Given the description of an element on the screen output the (x, y) to click on. 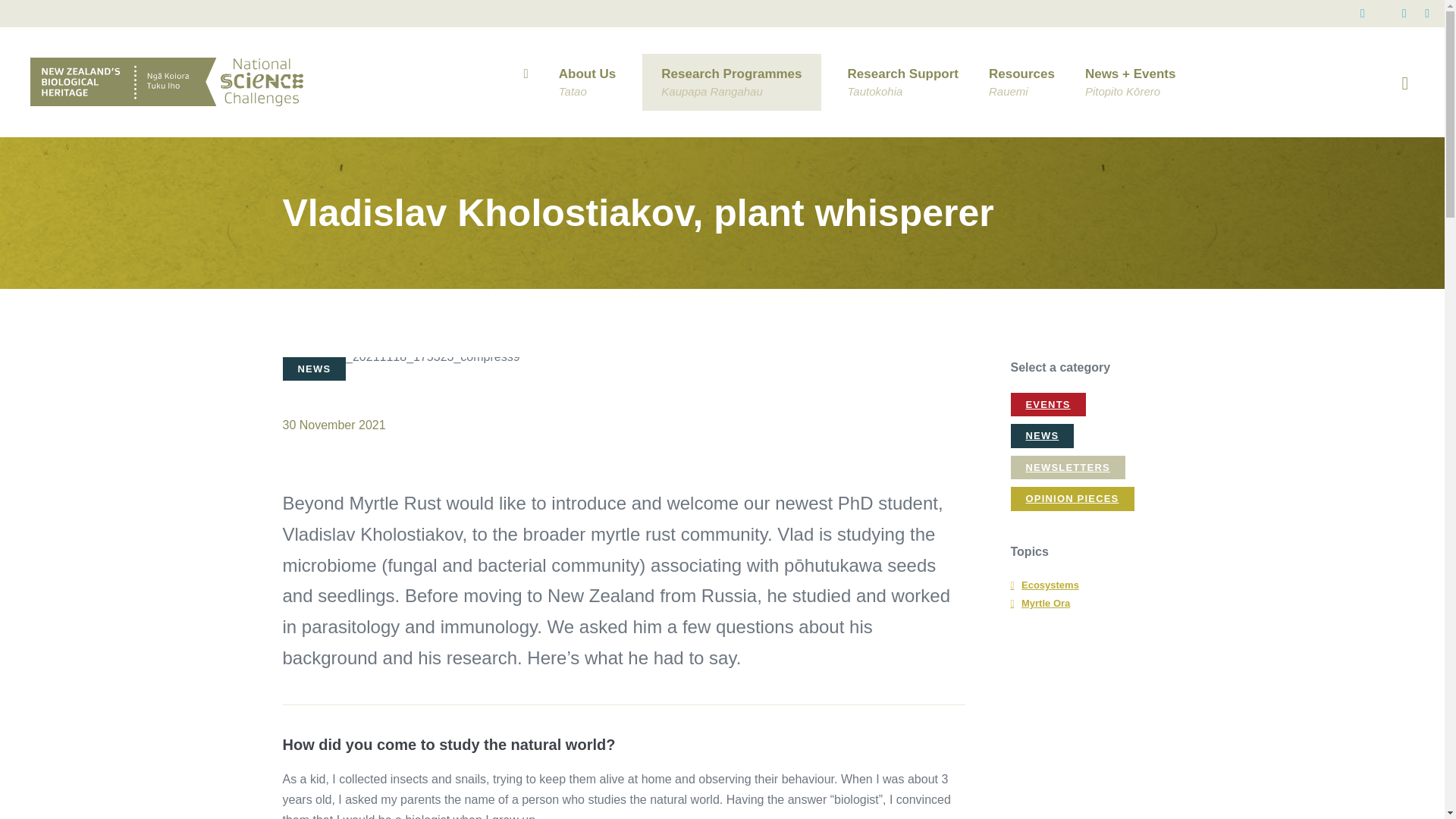
Biological Heritage Flipped (730, 82)
